Given the description of an element on the screen output the (x, y) to click on. 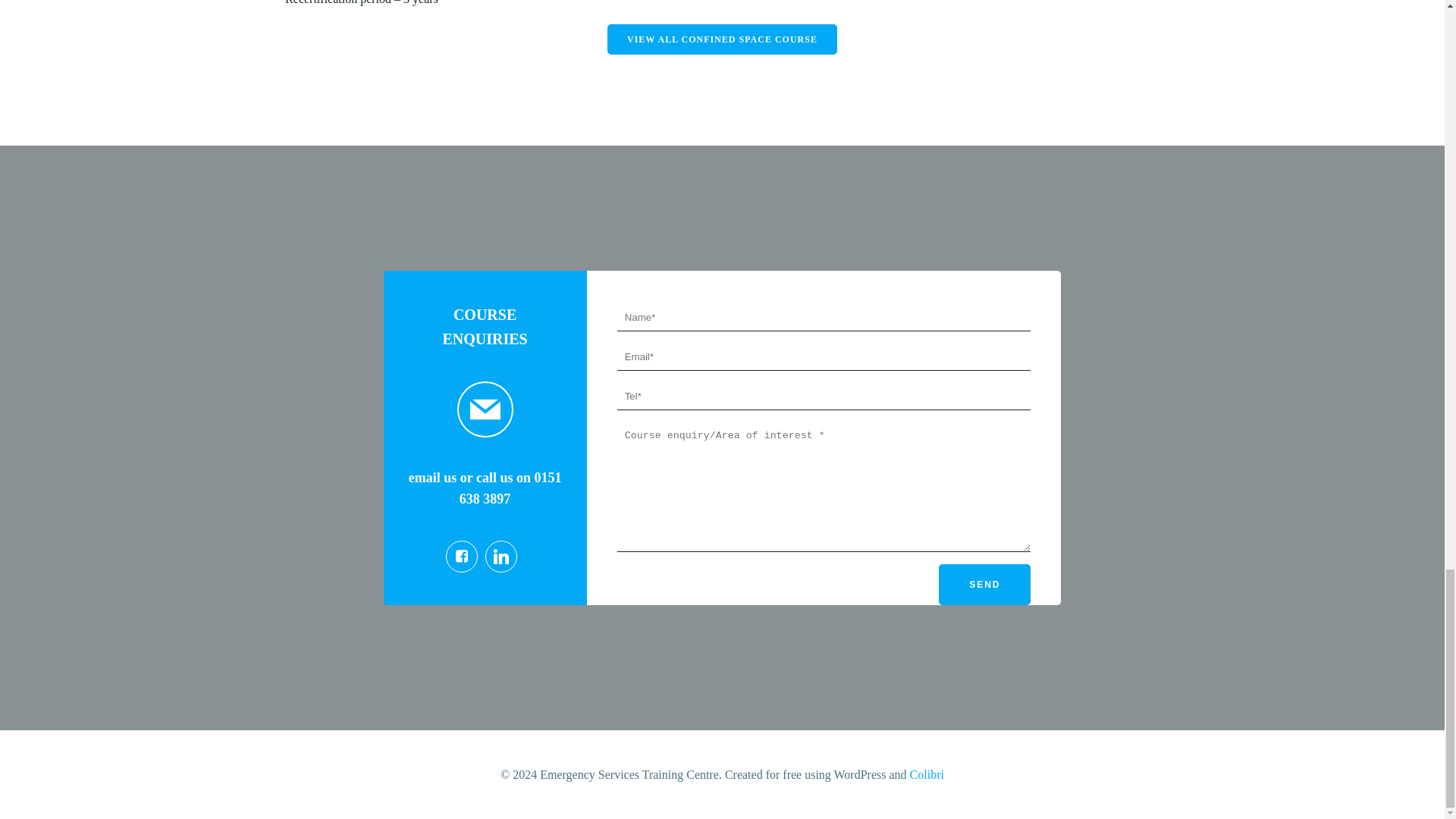
Colibri (926, 774)
VIEW ALL CONFINED SPACE COURSE (722, 39)
Send (984, 584)
Send (984, 584)
